Given the description of an element on the screen output the (x, y) to click on. 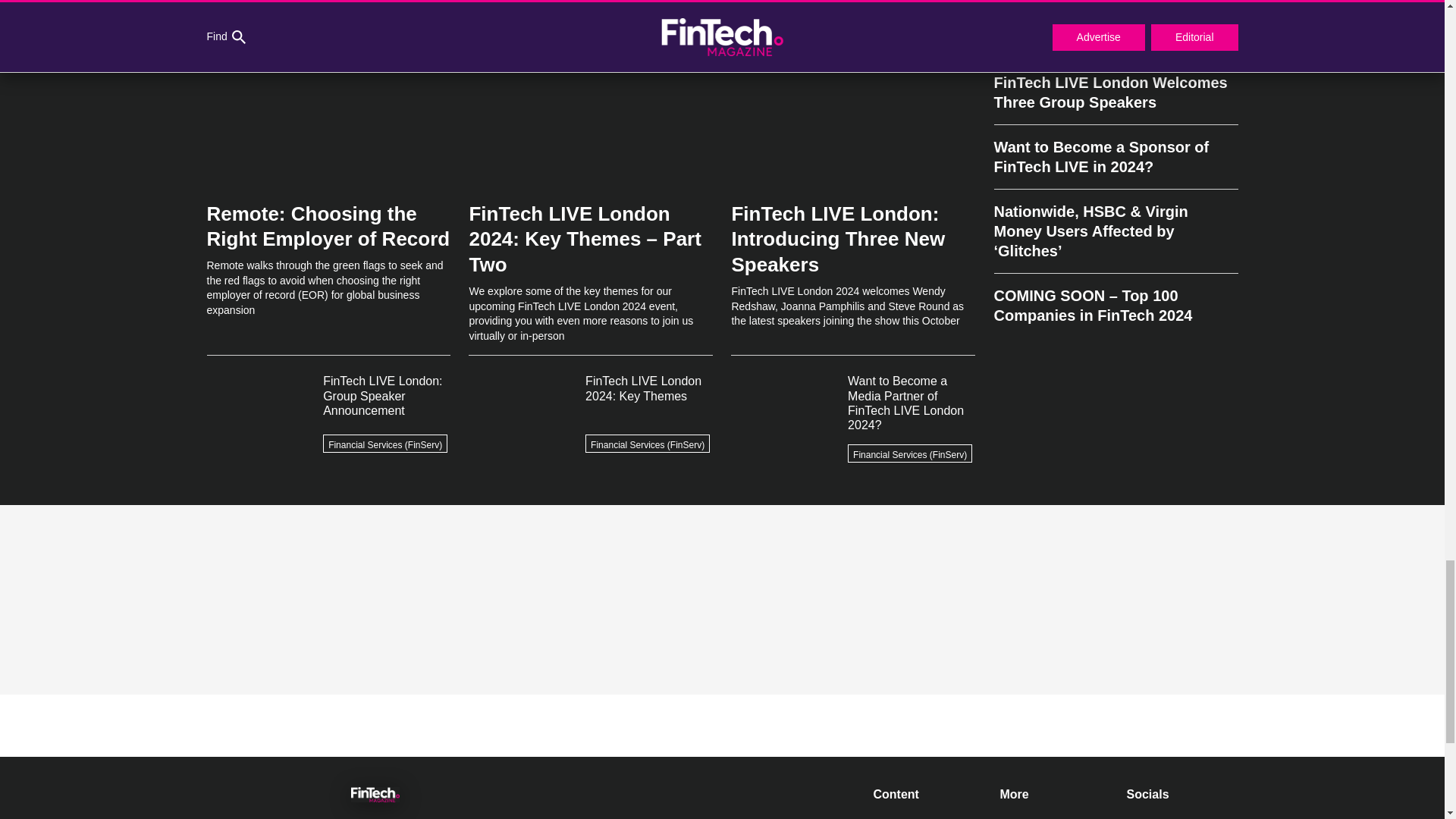
FinTech LIVE London: Three New Speakers Onboard (1114, 34)
Want to Become a Sponsor of FinTech LIVE in 2024? (1114, 157)
FinTech LIVE London Welcomes Three Group Speakers (1114, 92)
